Given the description of an element on the screen output the (x, y) to click on. 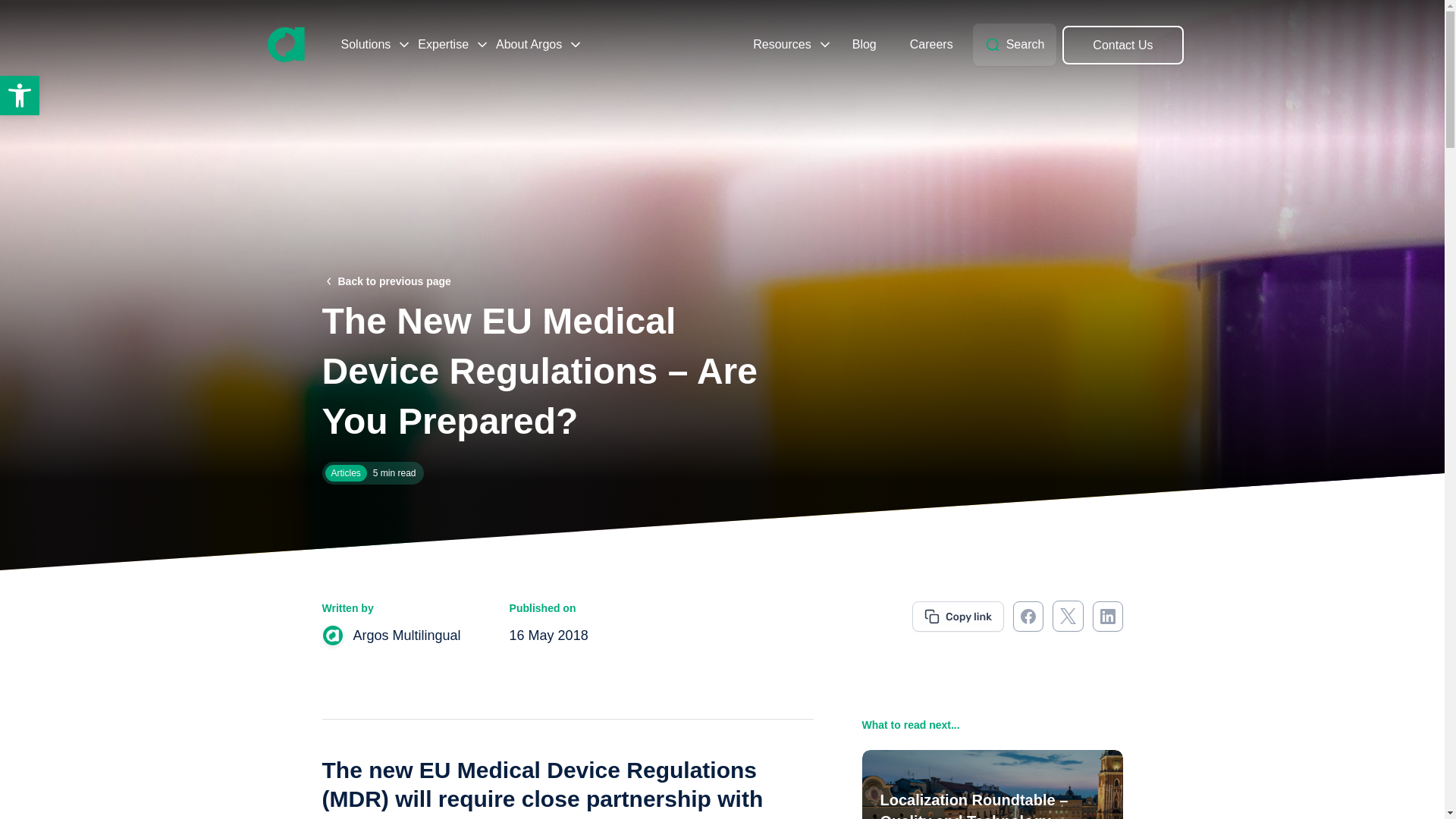
Home page (285, 44)
